Given the description of an element on the screen output the (x, y) to click on. 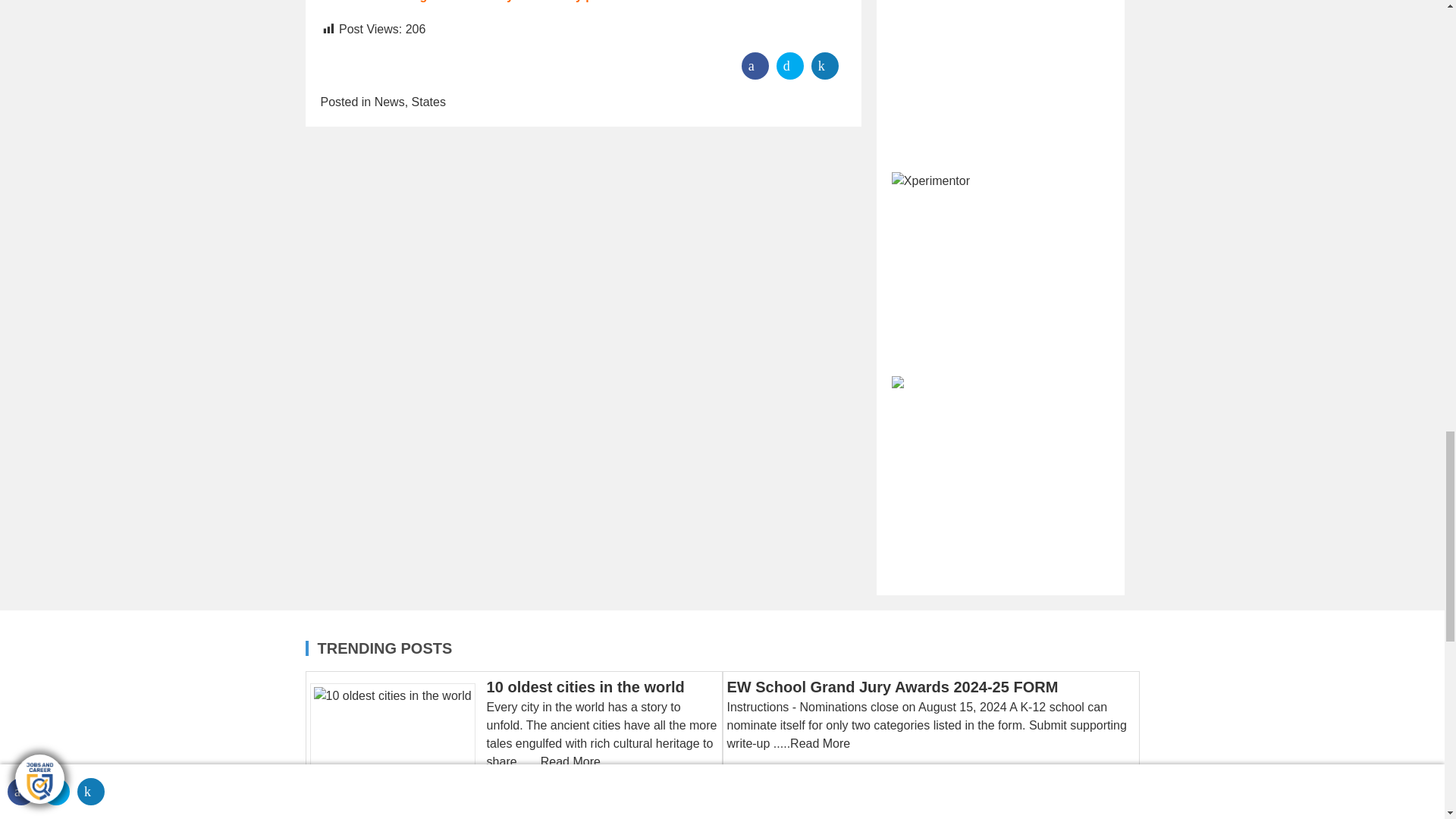
EW School Grand Jury Awards 2024-25 FORM (892, 686)
10 oldest cities in the world (397, 746)
10 oldest cities in the world (585, 686)
